Given the description of an element on the screen output the (x, y) to click on. 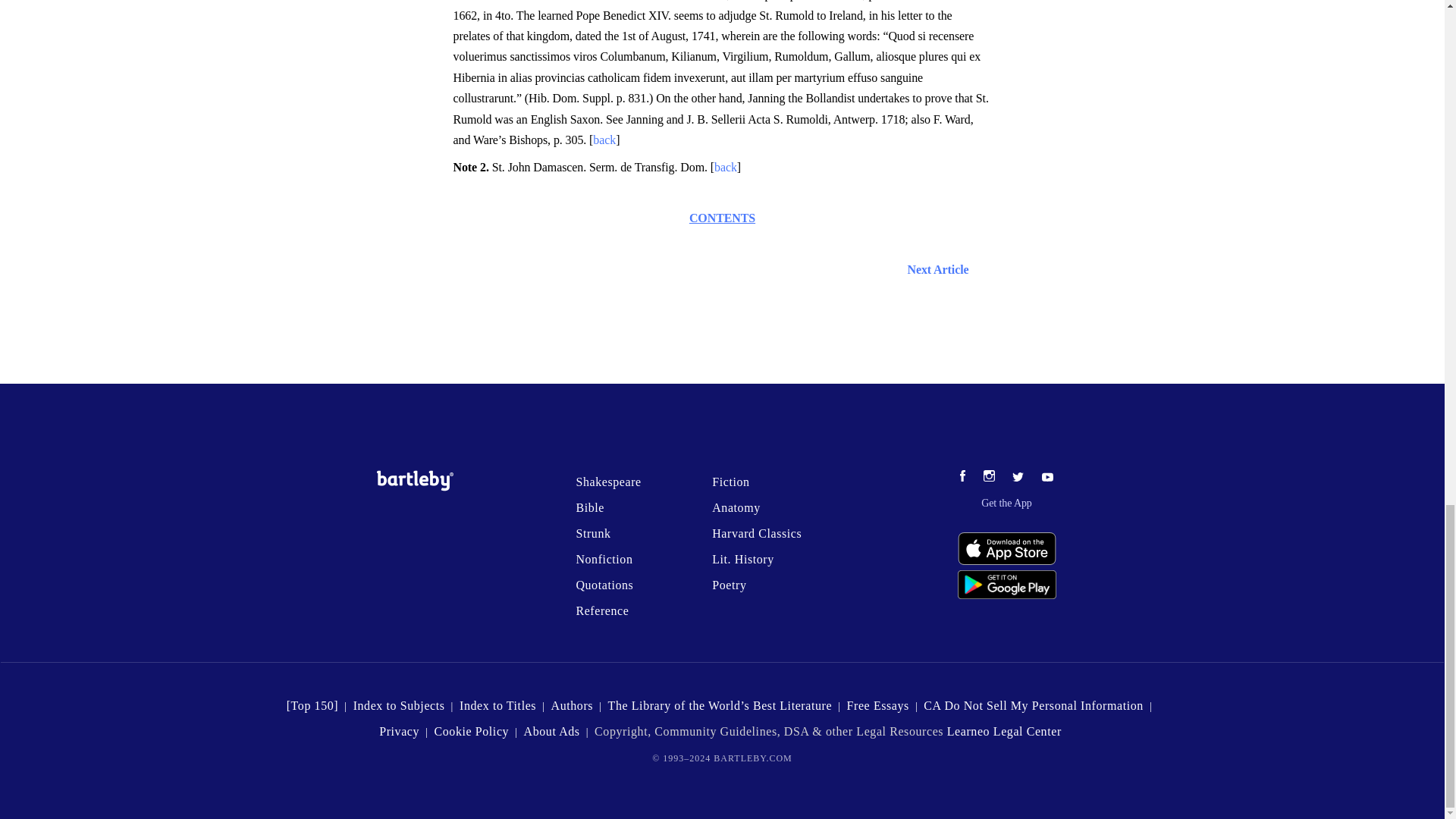
Shakespeare (607, 481)
Quotations (604, 584)
Strunk (592, 533)
Anatomy (735, 507)
Nonfiction (603, 558)
Fiction (730, 481)
Note 2. (472, 166)
Next Article (722, 269)
CONTENTS (721, 217)
back (603, 139)
